Given the description of an element on the screen output the (x, y) to click on. 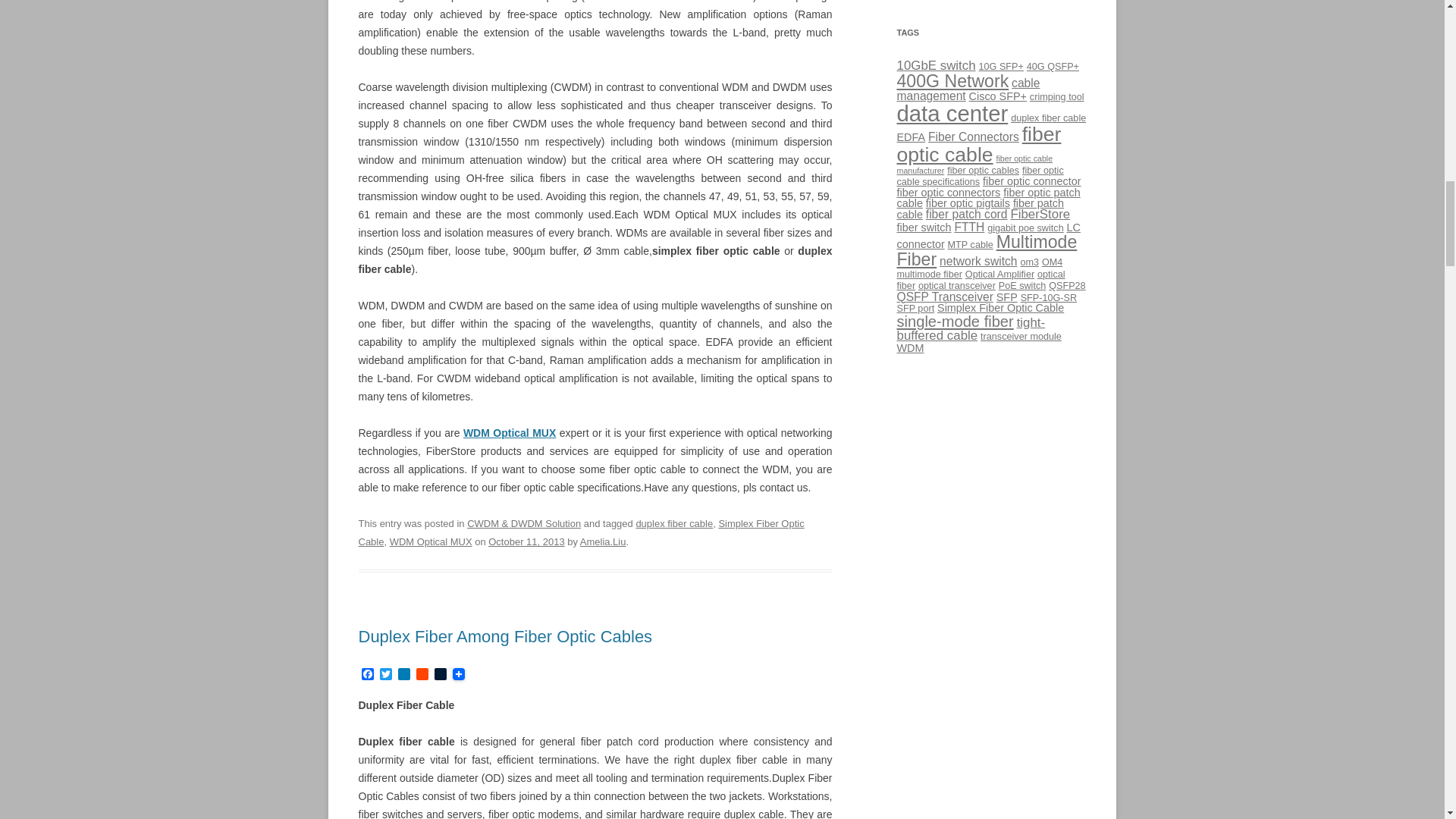
Twitter (384, 675)
Reddit (421, 675)
LinkedIn (403, 675)
Tumblr (439, 675)
9:08 am (525, 541)
Facebook (366, 675)
View all posts by Amelia.Liu (602, 541)
